Given the description of an element on the screen output the (x, y) to click on. 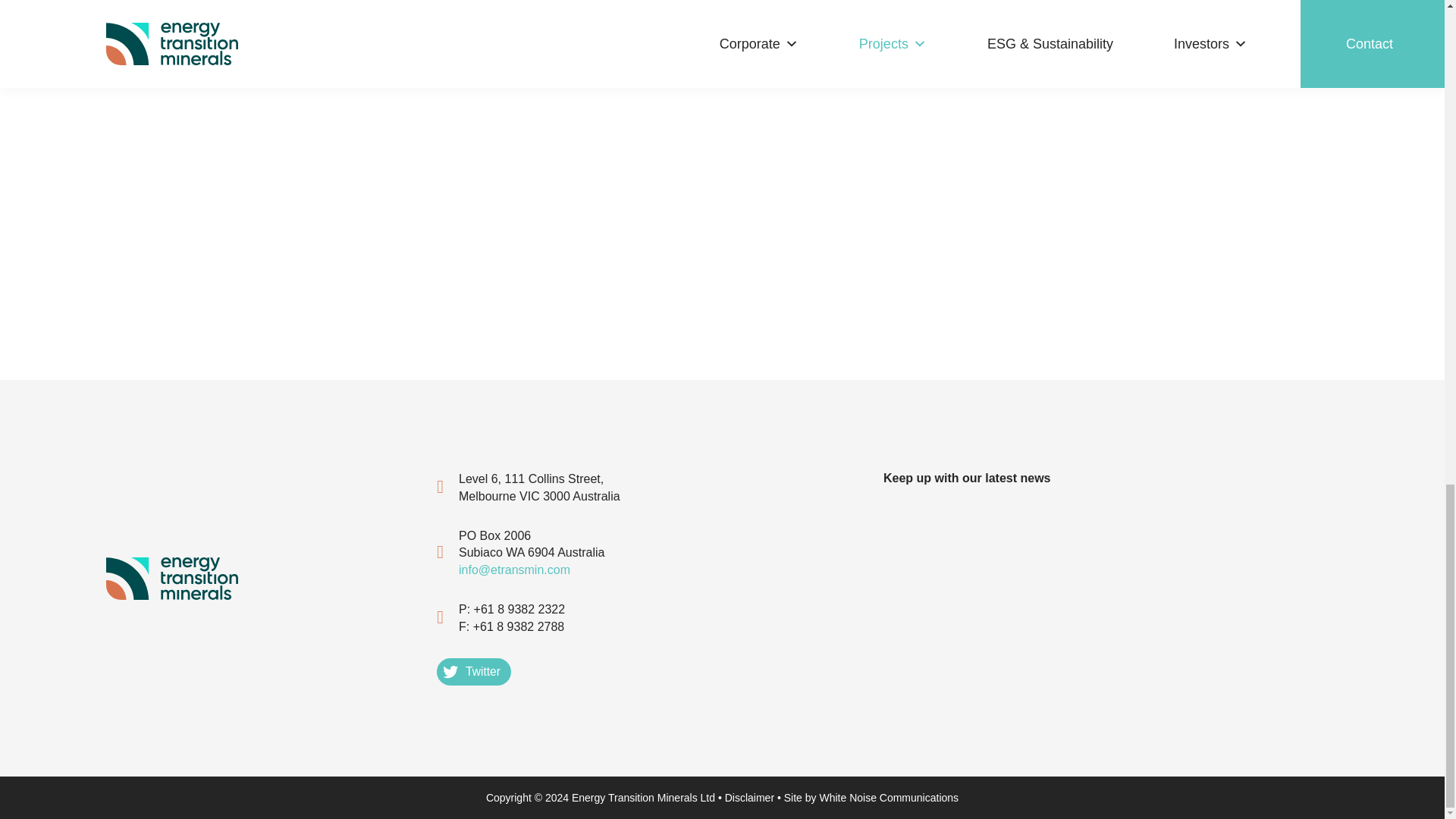
White Noise Communications (888, 797)
Disclaimer (749, 797)
Twitter (473, 671)
